Given the description of an element on the screen output the (x, y) to click on. 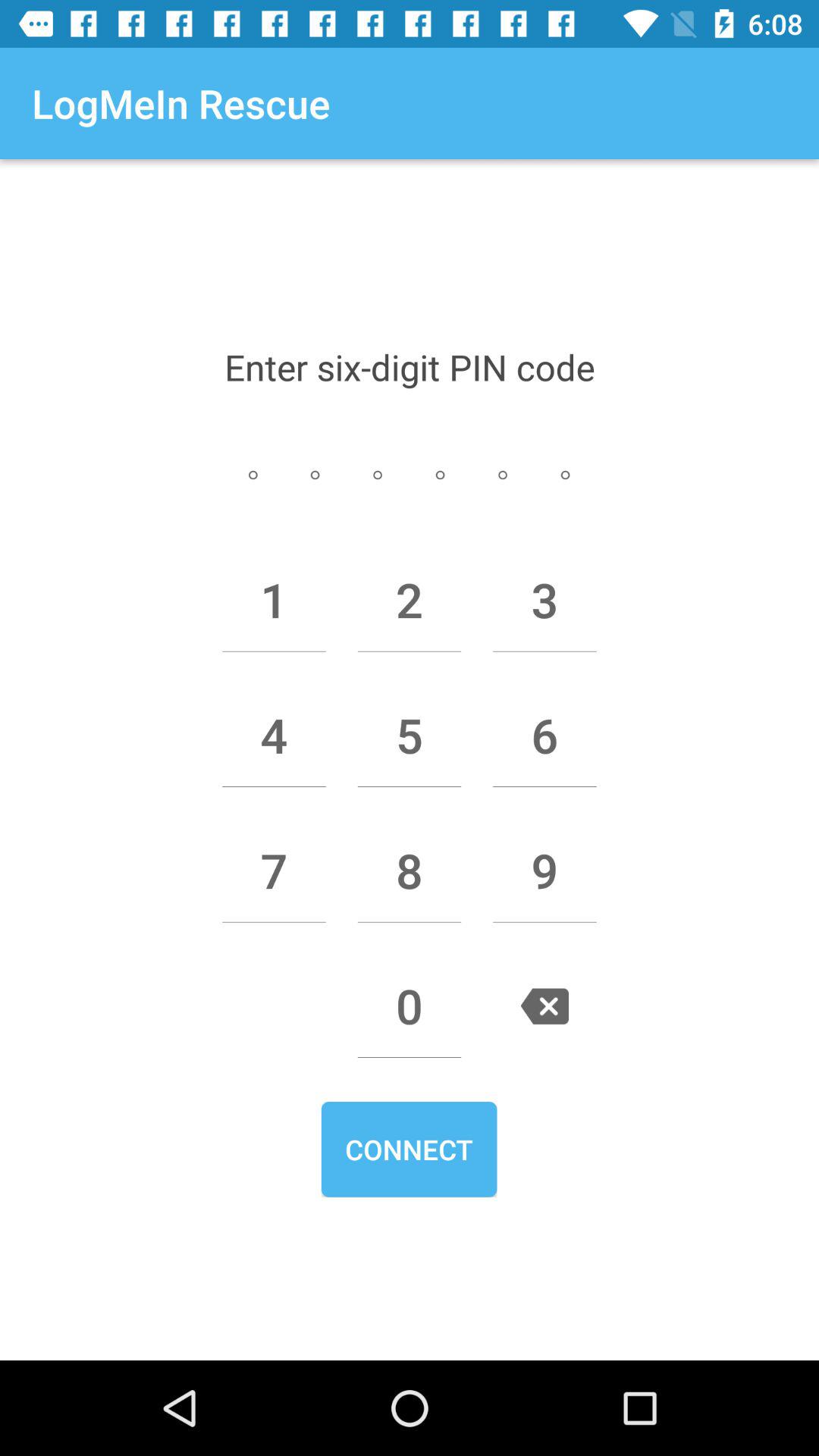
turn on the icon above the 8 icon (409, 735)
